Given the description of an element on the screen output the (x, y) to click on. 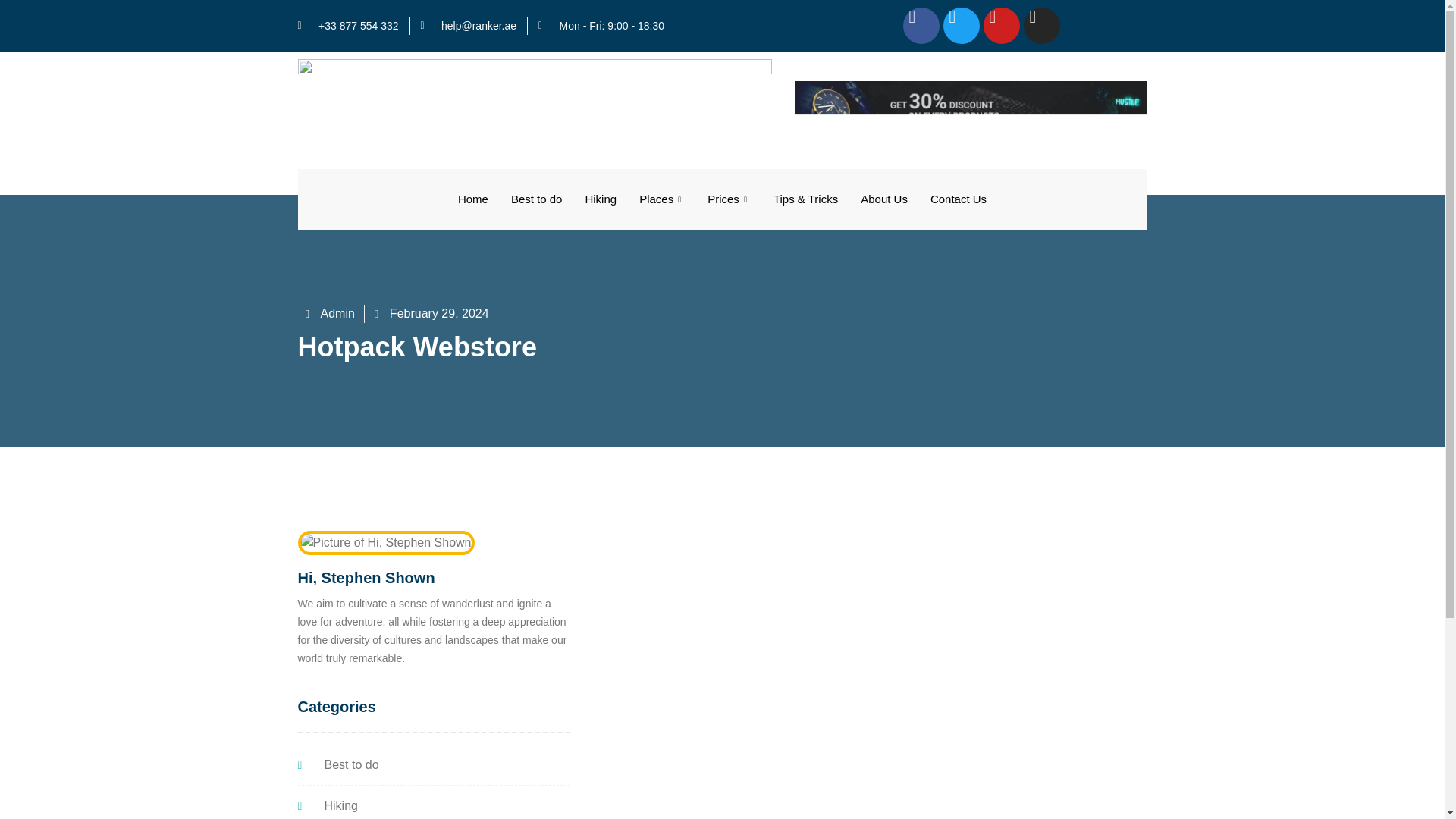
Prices (728, 199)
February 29, 2024 (431, 313)
Admin (328, 313)
Best to do (536, 199)
Places (661, 199)
Best to do (433, 764)
Hiking (600, 199)
Hiking (433, 805)
Contact Us (957, 199)
About Us (883, 199)
